Given the description of an element on the screen output the (x, y) to click on. 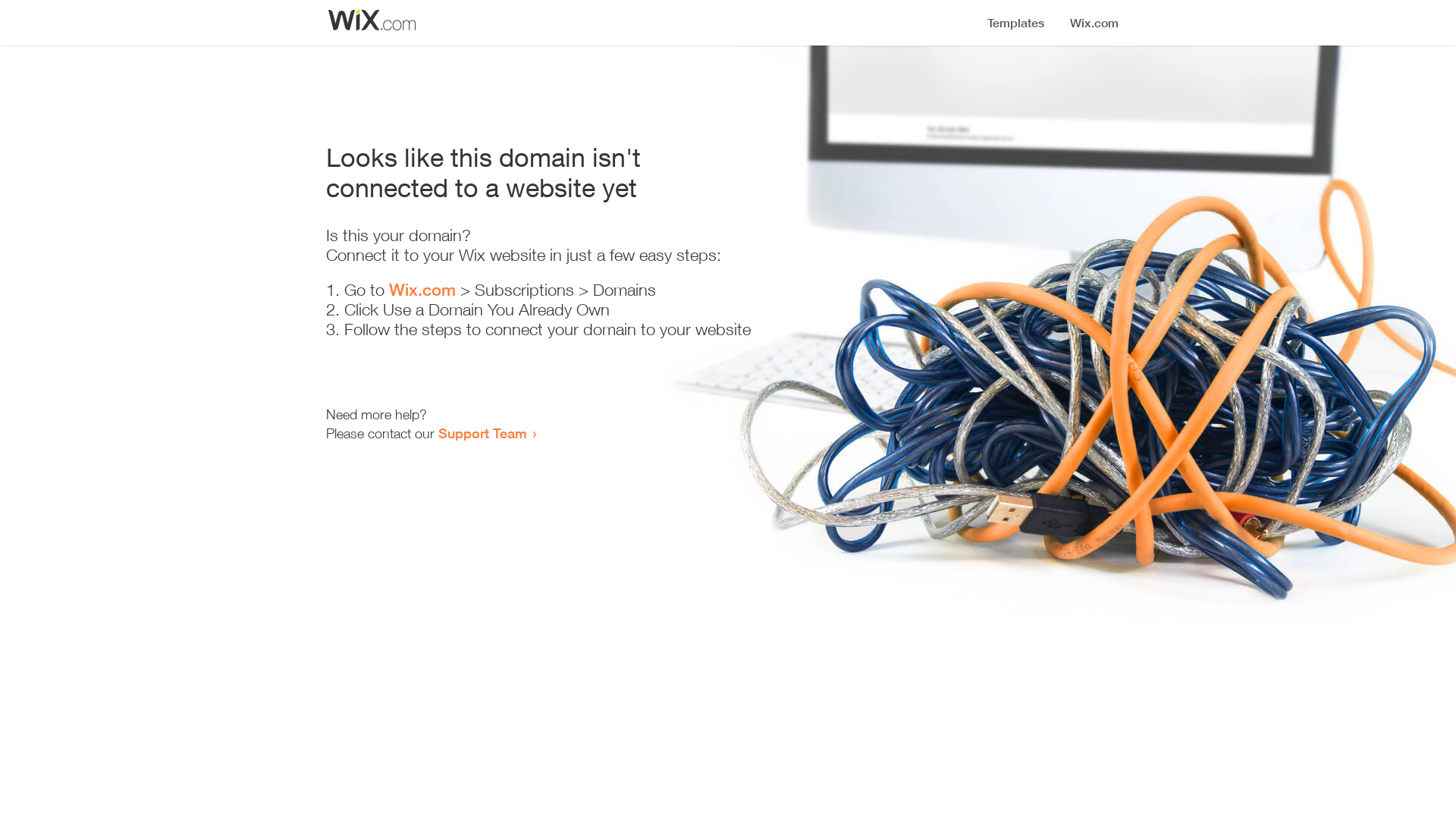
Support Team Element type: text (482, 432)
Wix.com Element type: text (422, 289)
